Given the description of an element on the screen output the (x, y) to click on. 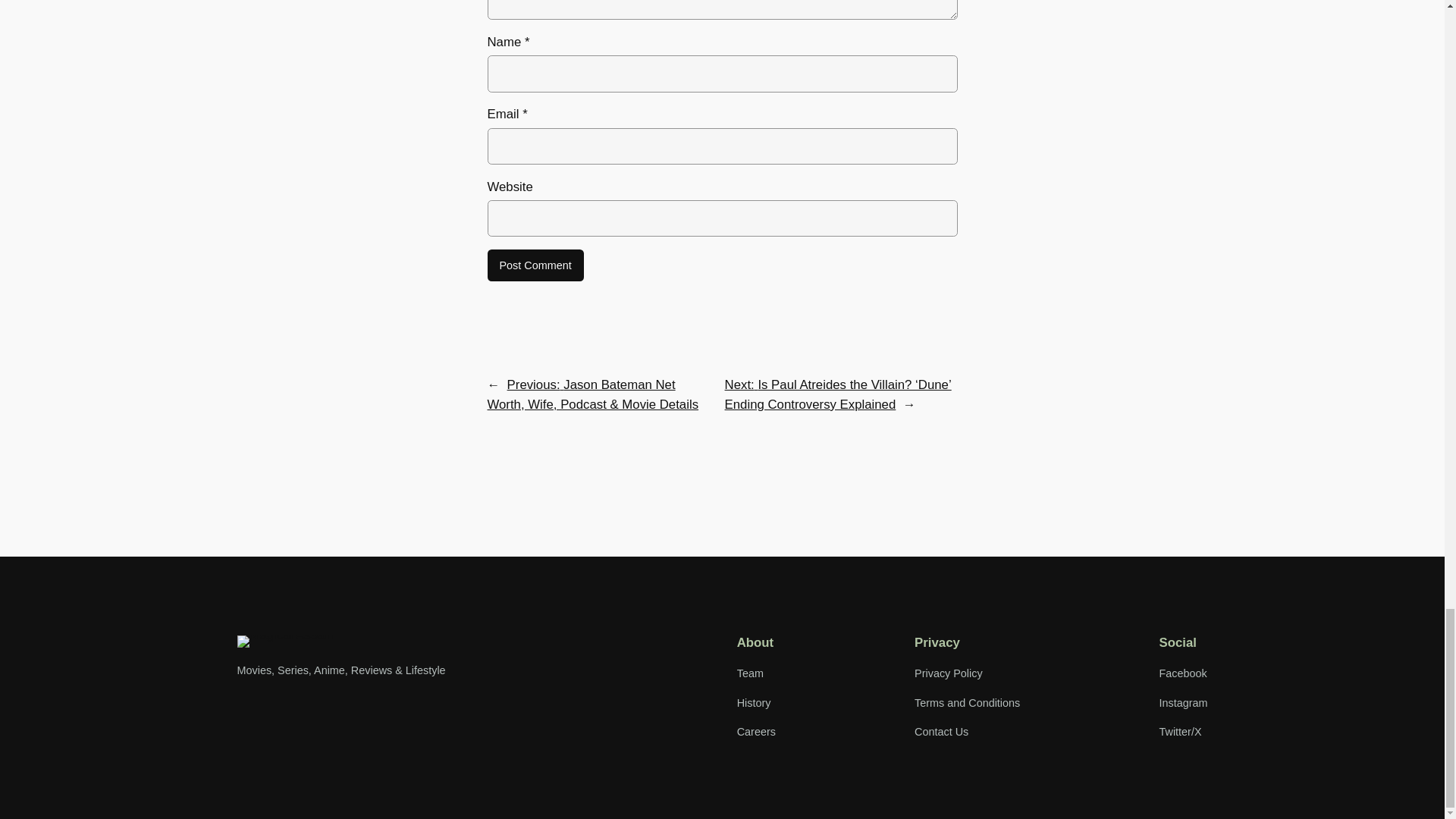
Post Comment (534, 265)
History (753, 702)
Privacy Policy (948, 673)
Post Comment (534, 265)
Team (749, 673)
Terms and Conditions (967, 702)
Careers (756, 731)
